Given the description of an element on the screen output the (x, y) to click on. 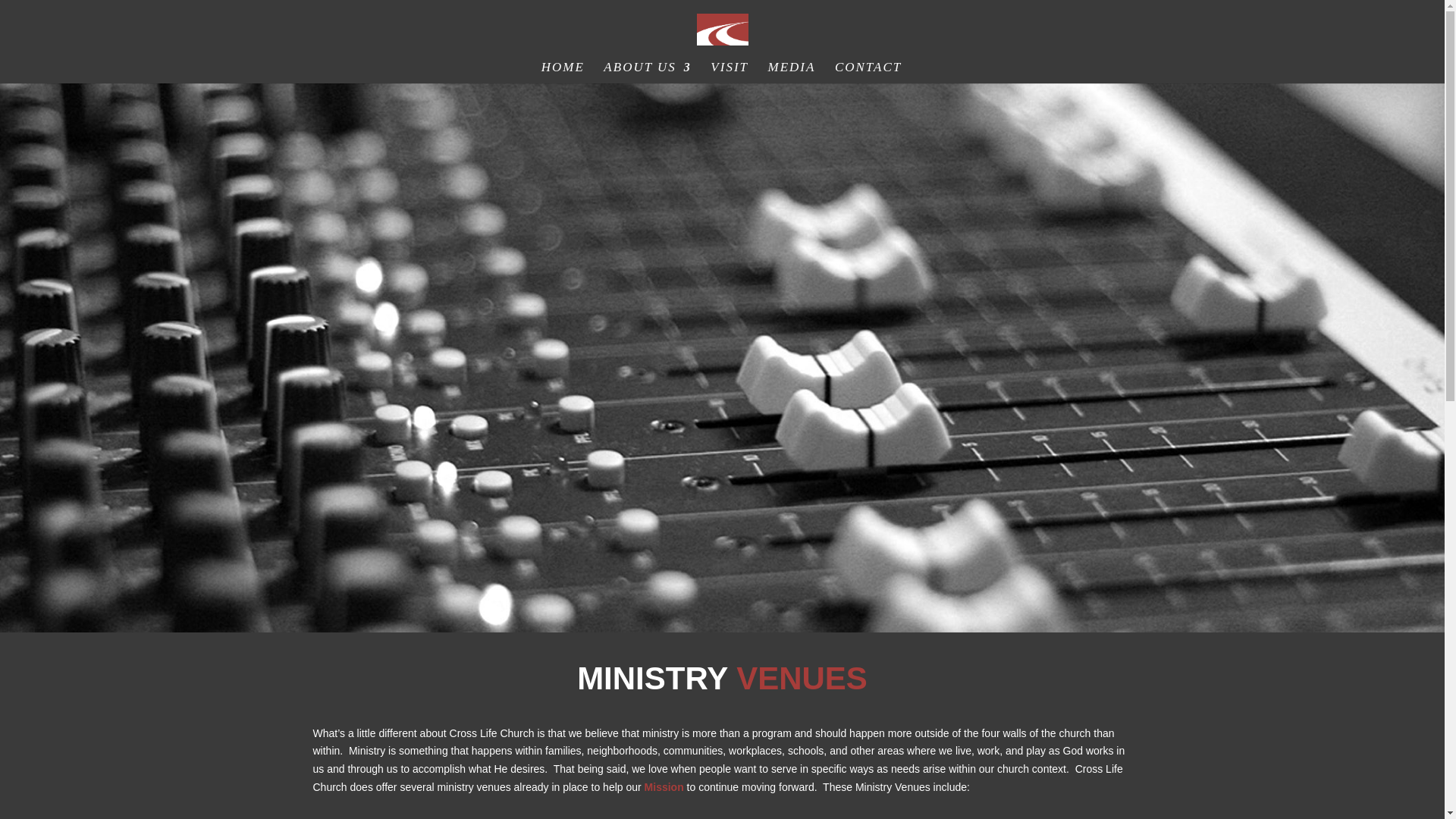
MEDIA (791, 72)
ABOUT US (647, 72)
CONTACT (867, 72)
HOME (563, 72)
Mission (664, 787)
VISIT (729, 72)
